Given the description of an element on the screen output the (x, y) to click on. 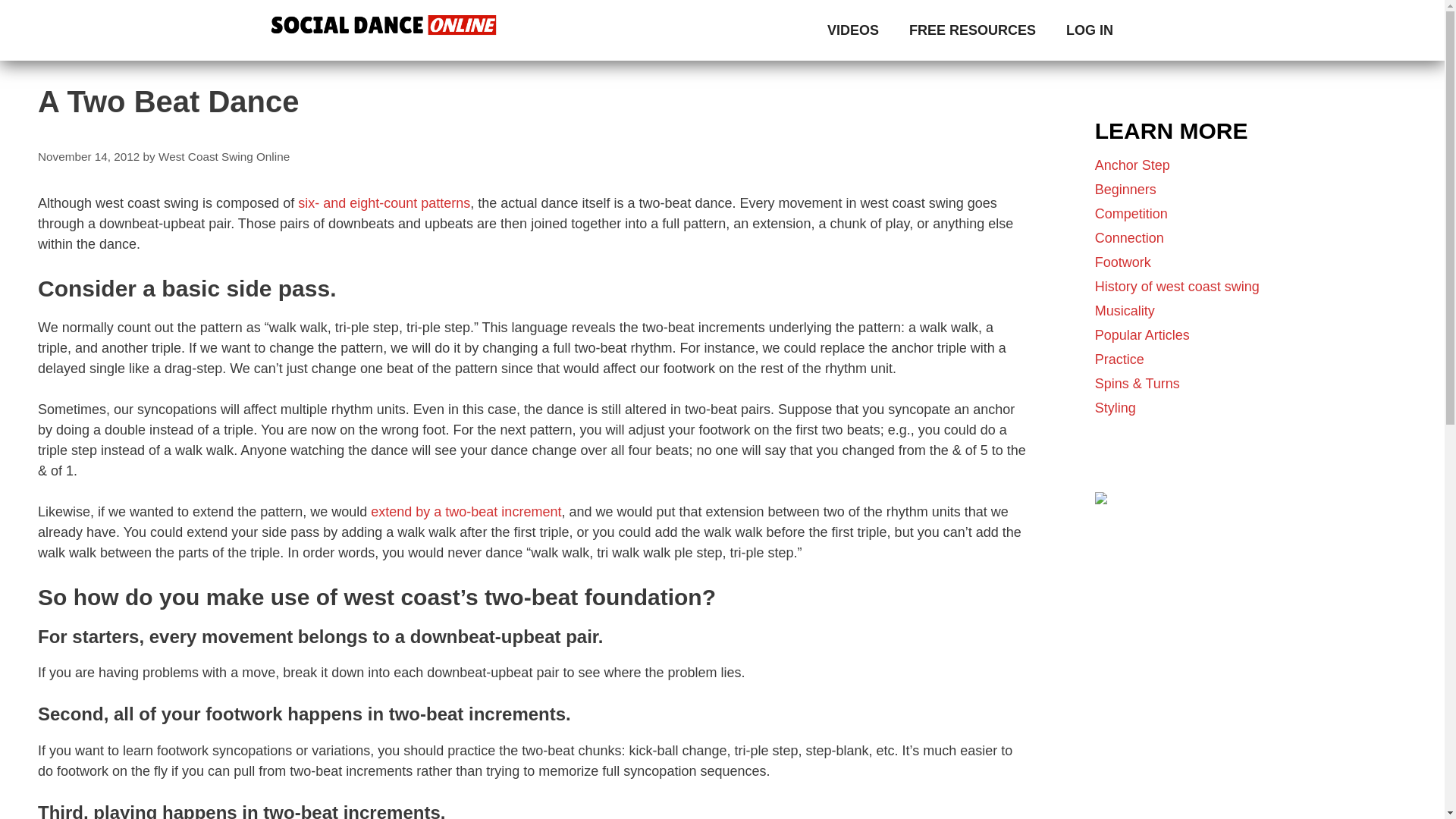
extend by a two-beat increment (465, 511)
Popular Articles (1141, 335)
West Coast Swing Online (223, 155)
West Coast Swing Online (383, 30)
History of west coast swing (1176, 286)
six- and eight-count patterns (384, 202)
FREE RESOURCES (972, 30)
Musicality (1124, 310)
Competition (1130, 213)
VIDEOS (852, 30)
